Given the description of an element on the screen output the (x, y) to click on. 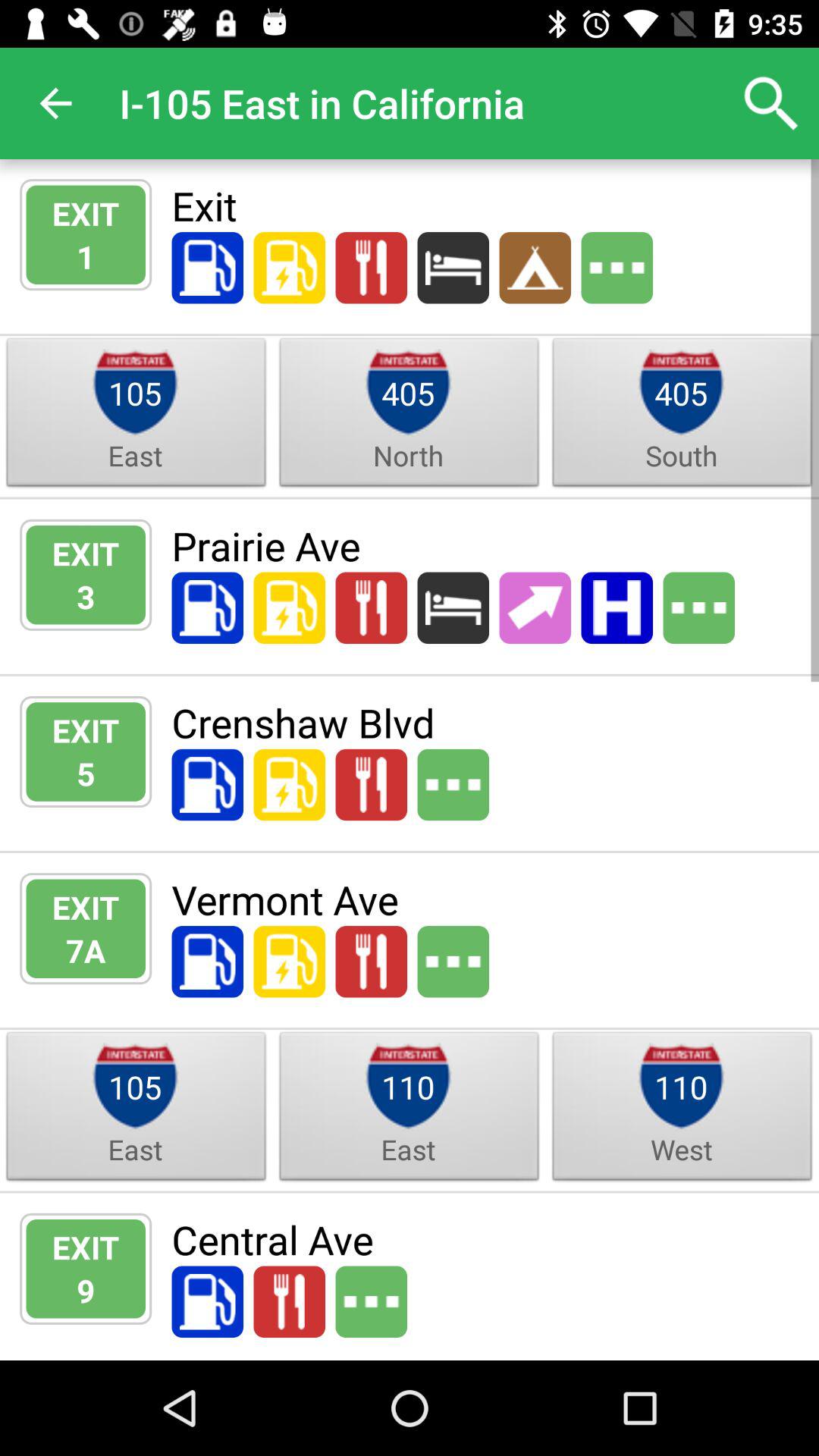
press item above exit item (55, 103)
